Given the description of an element on the screen output the (x, y) to click on. 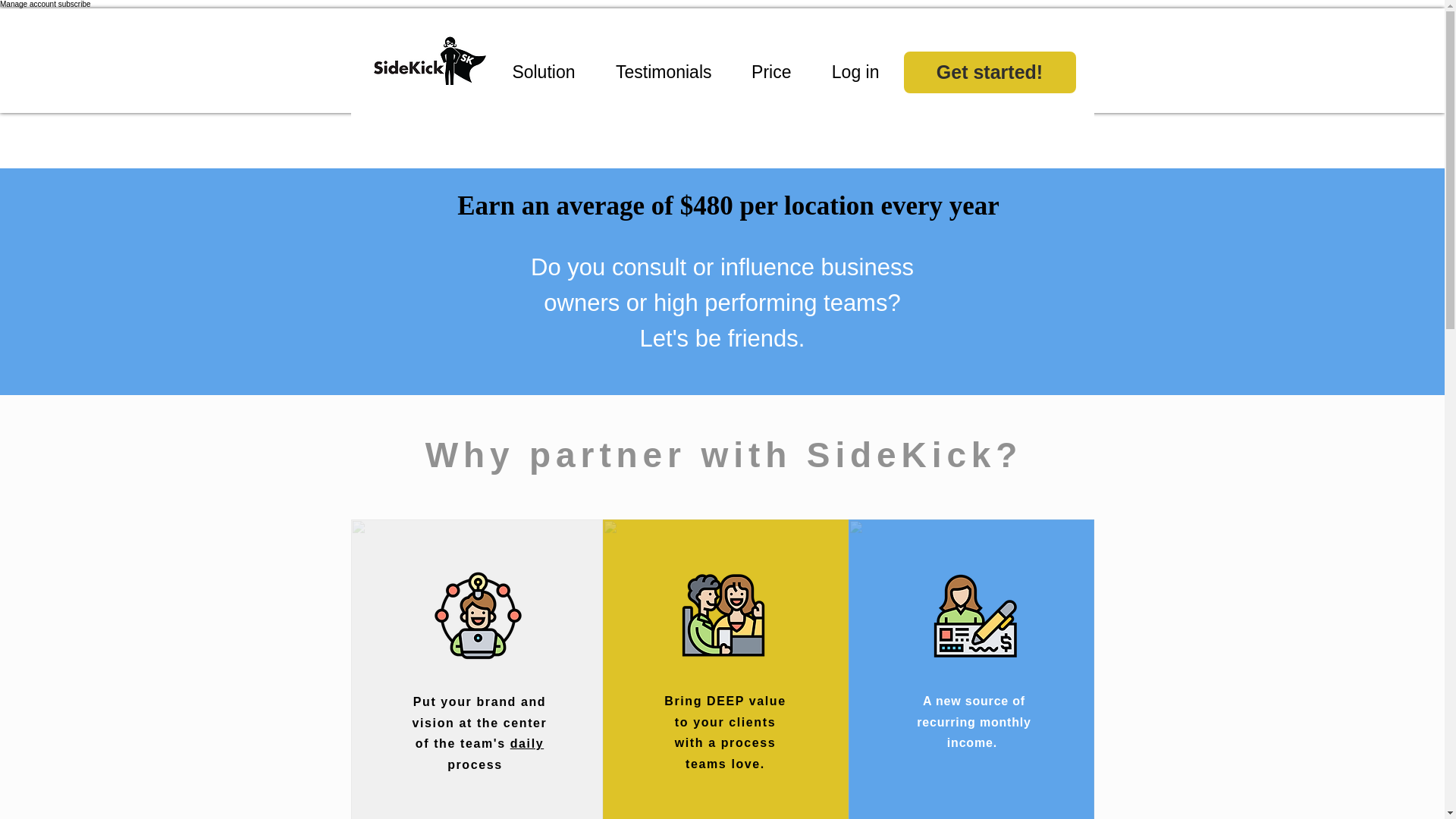
Solution (533, 72)
Log in (845, 72)
Get started! (989, 72)
Testimonials (654, 72)
subscribe (74, 4)
Manage account (28, 4)
Price (763, 72)
